Given the description of an element on the screen output the (x, y) to click on. 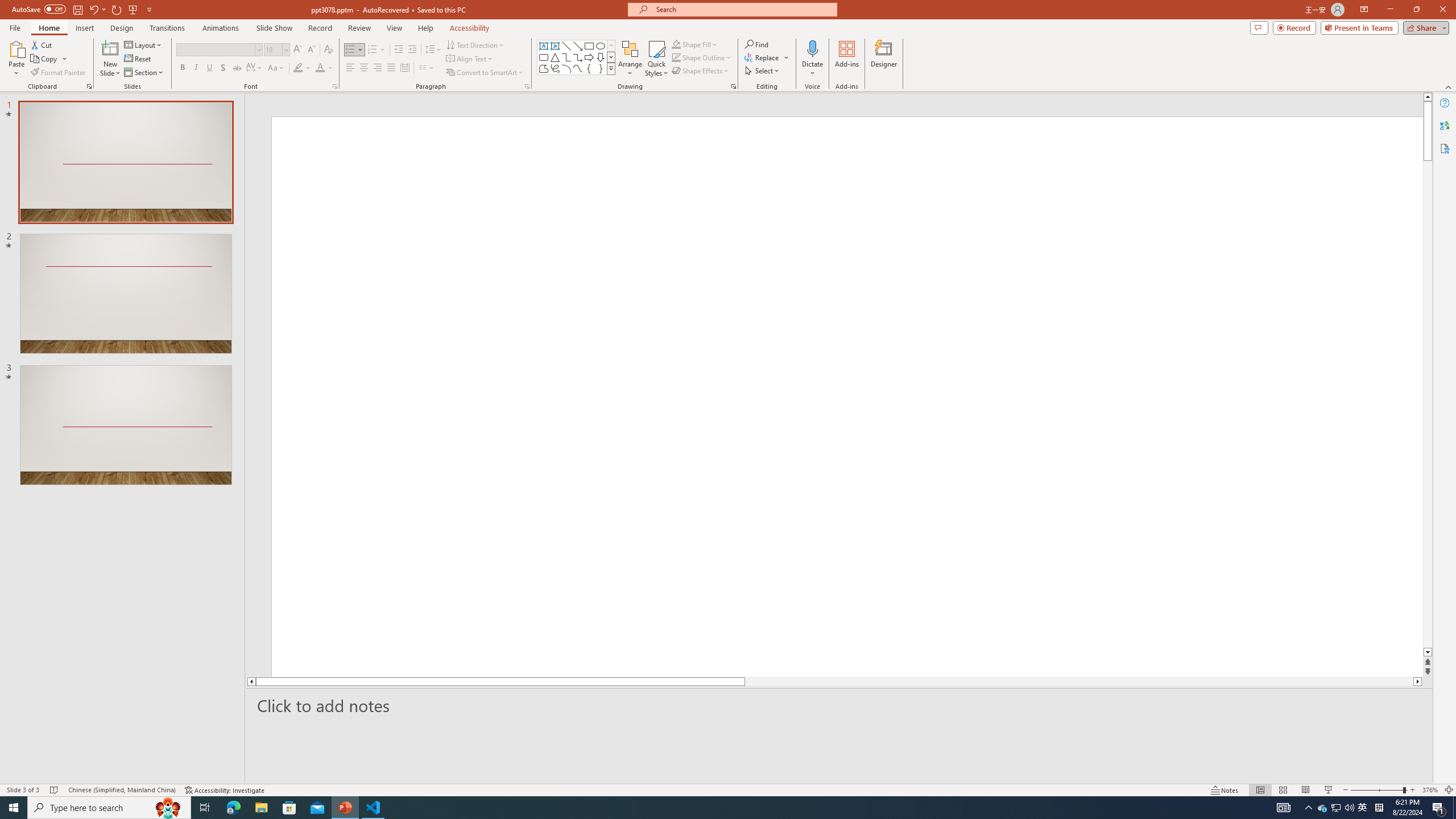
Zoom 376% (1430, 790)
